Given the description of an element on the screen output the (x, y) to click on. 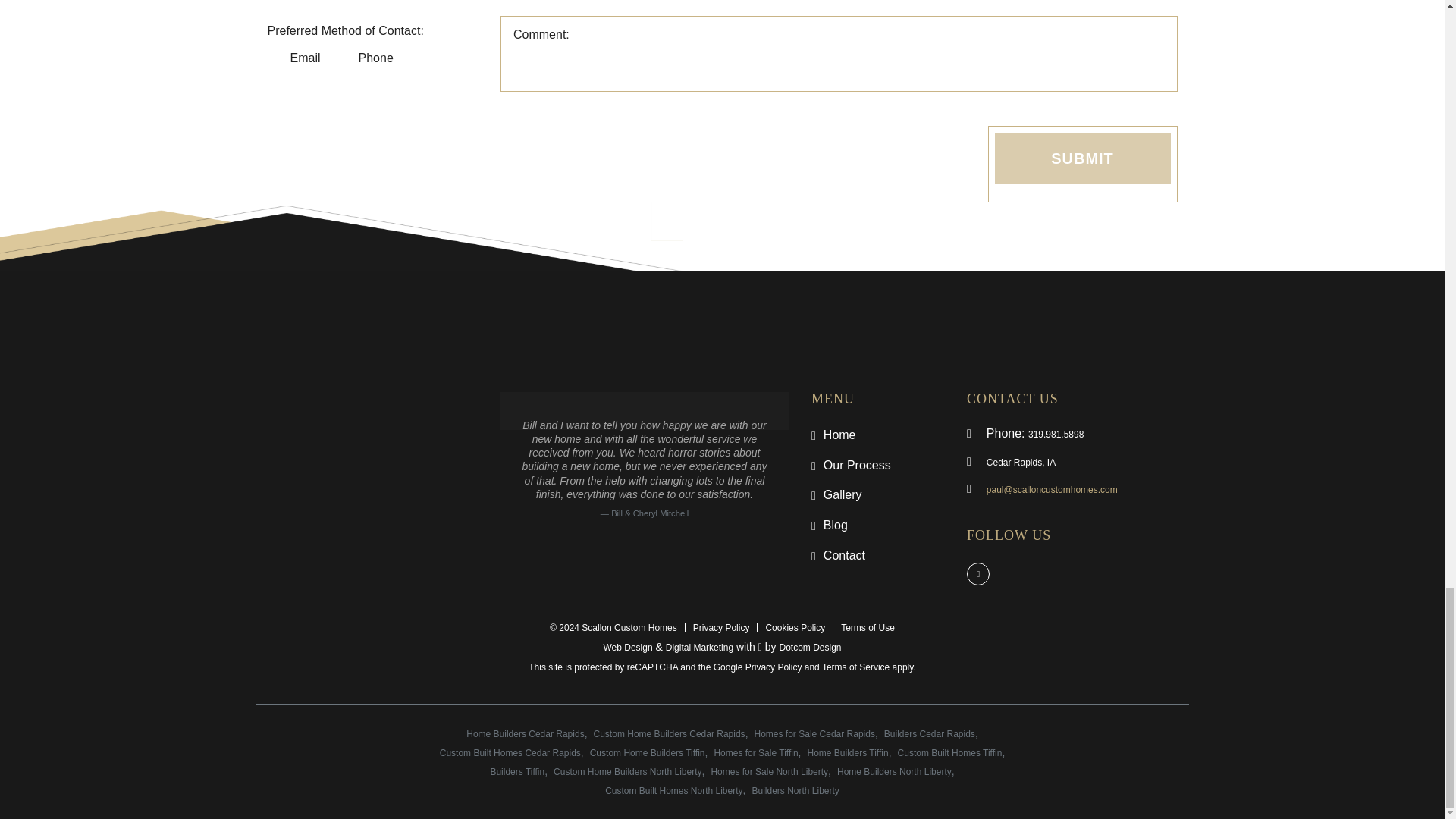
Dotcom Design (809, 647)
Website Design (627, 647)
Digital Marketing (699, 647)
Submit (1082, 158)
